Given the description of an element on the screen output the (x, y) to click on. 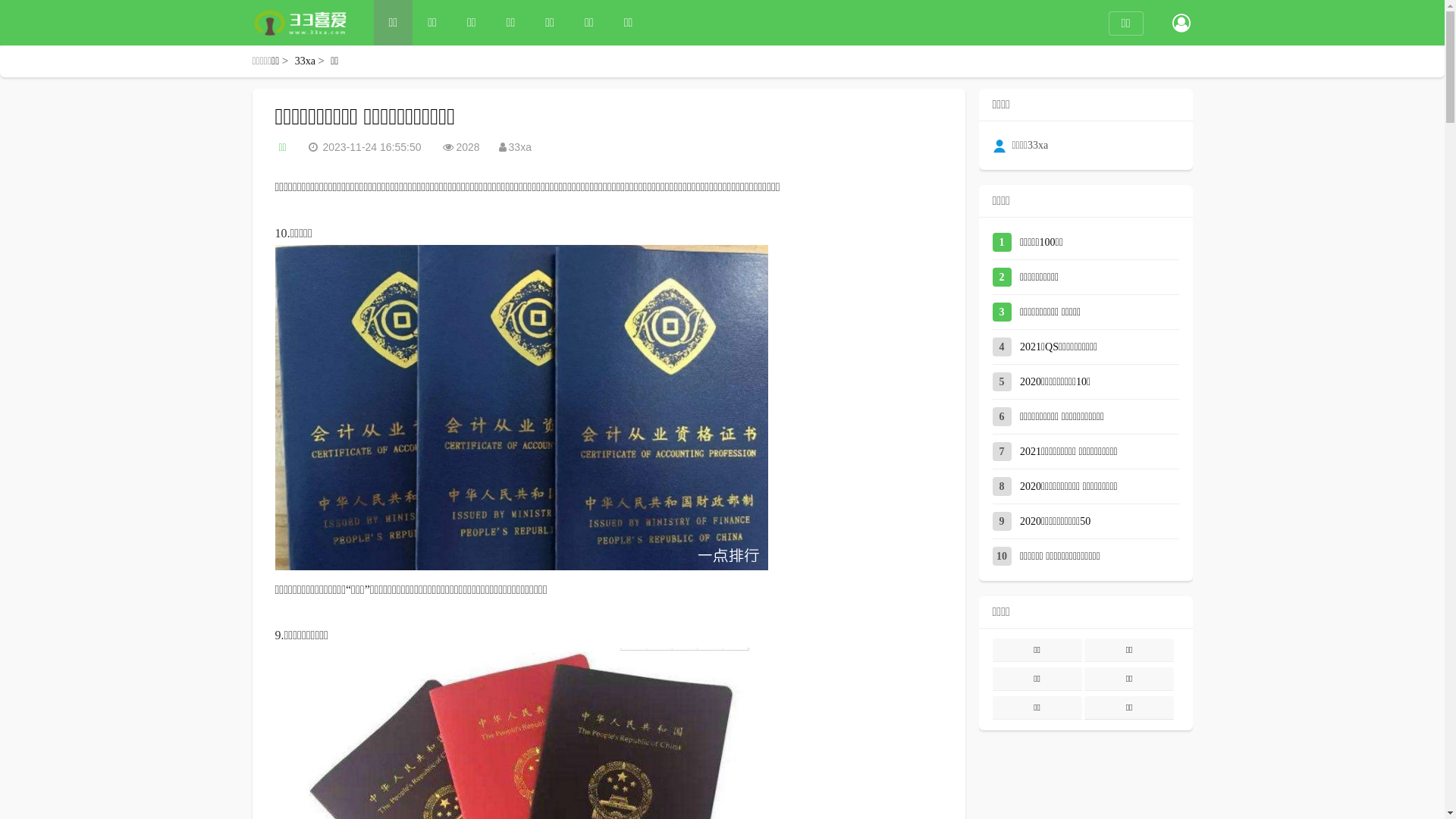
33xa Element type: text (304, 60)
